Given the description of an element on the screen output the (x, y) to click on. 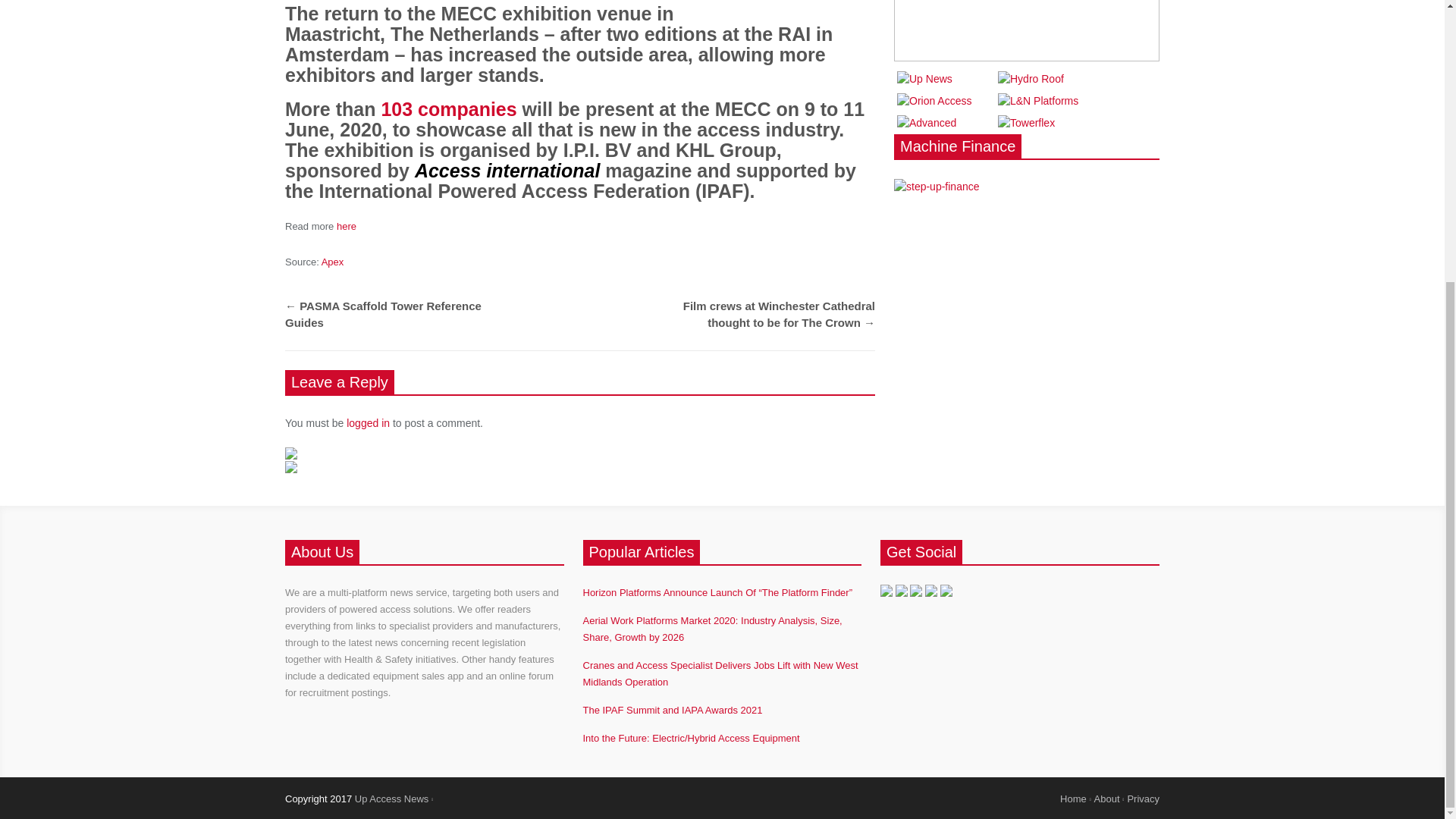
Hydro Roof (1030, 78)
Orion Access (933, 101)
Up News (924, 78)
Towerflex (1025, 122)
Advanced (926, 122)
